Given the description of an element on the screen output the (x, y) to click on. 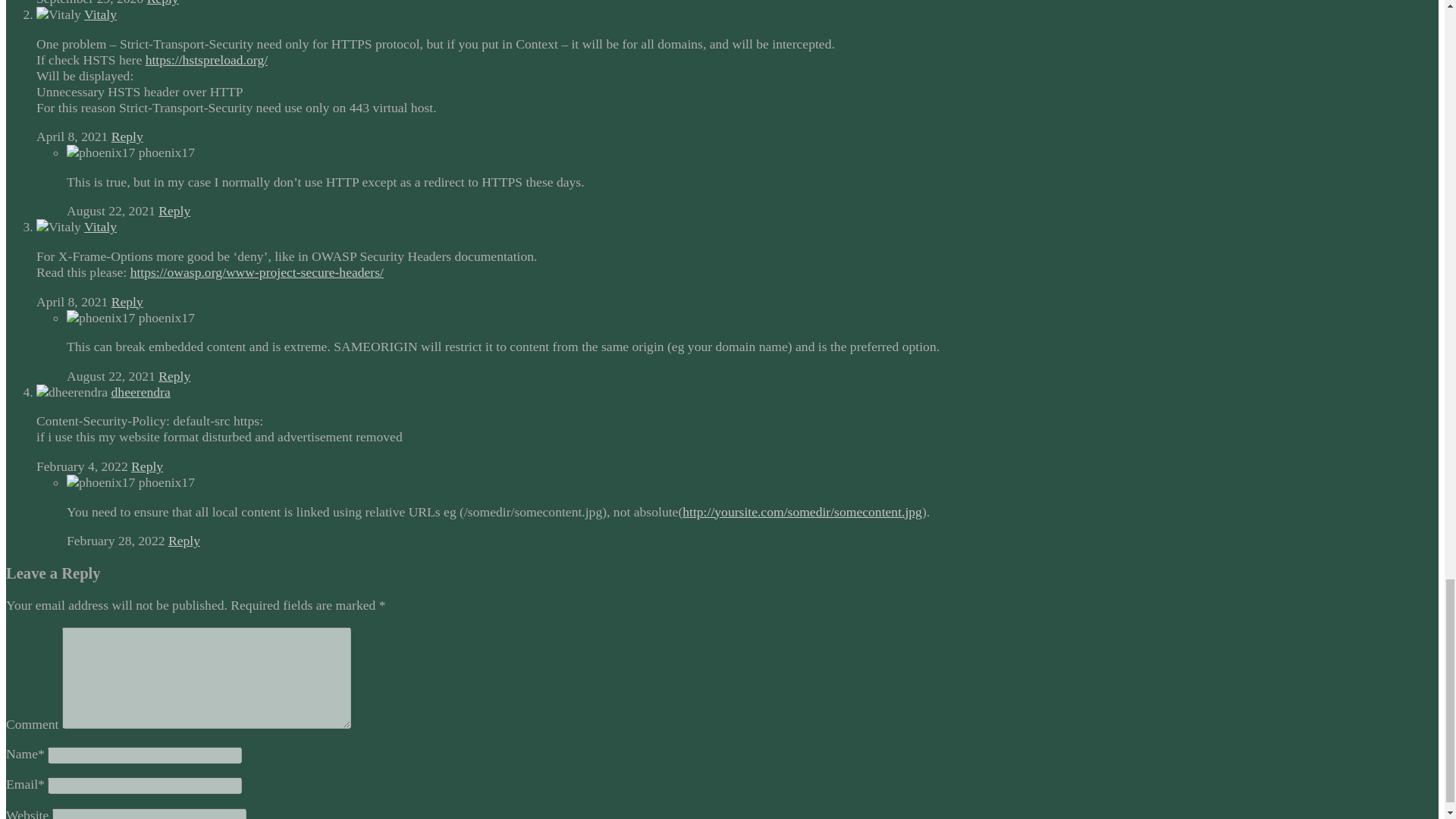
Reply (174, 376)
Vitaly (100, 14)
Reply (174, 210)
Reply (127, 136)
Vitaly (100, 226)
Reply (127, 301)
Reply (147, 466)
dheerendra (141, 391)
Reply (163, 2)
Reply (184, 540)
